Given the description of an element on the screen output the (x, y) to click on. 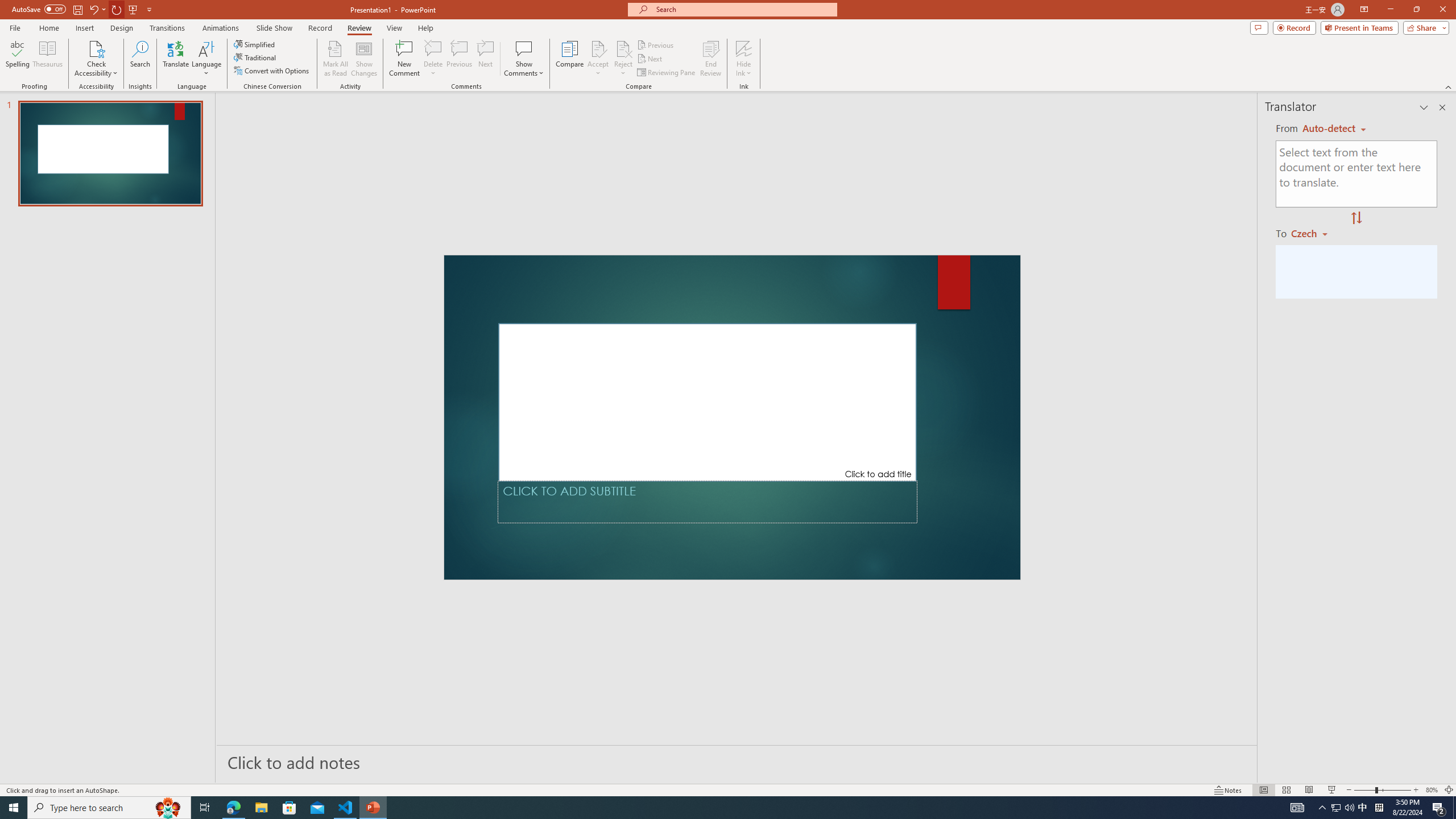
English (1334, 128)
Simplified (254, 44)
Show Changes (363, 58)
Czech (1313, 232)
Accept (598, 58)
